Given the description of an element on the screen output the (x, y) to click on. 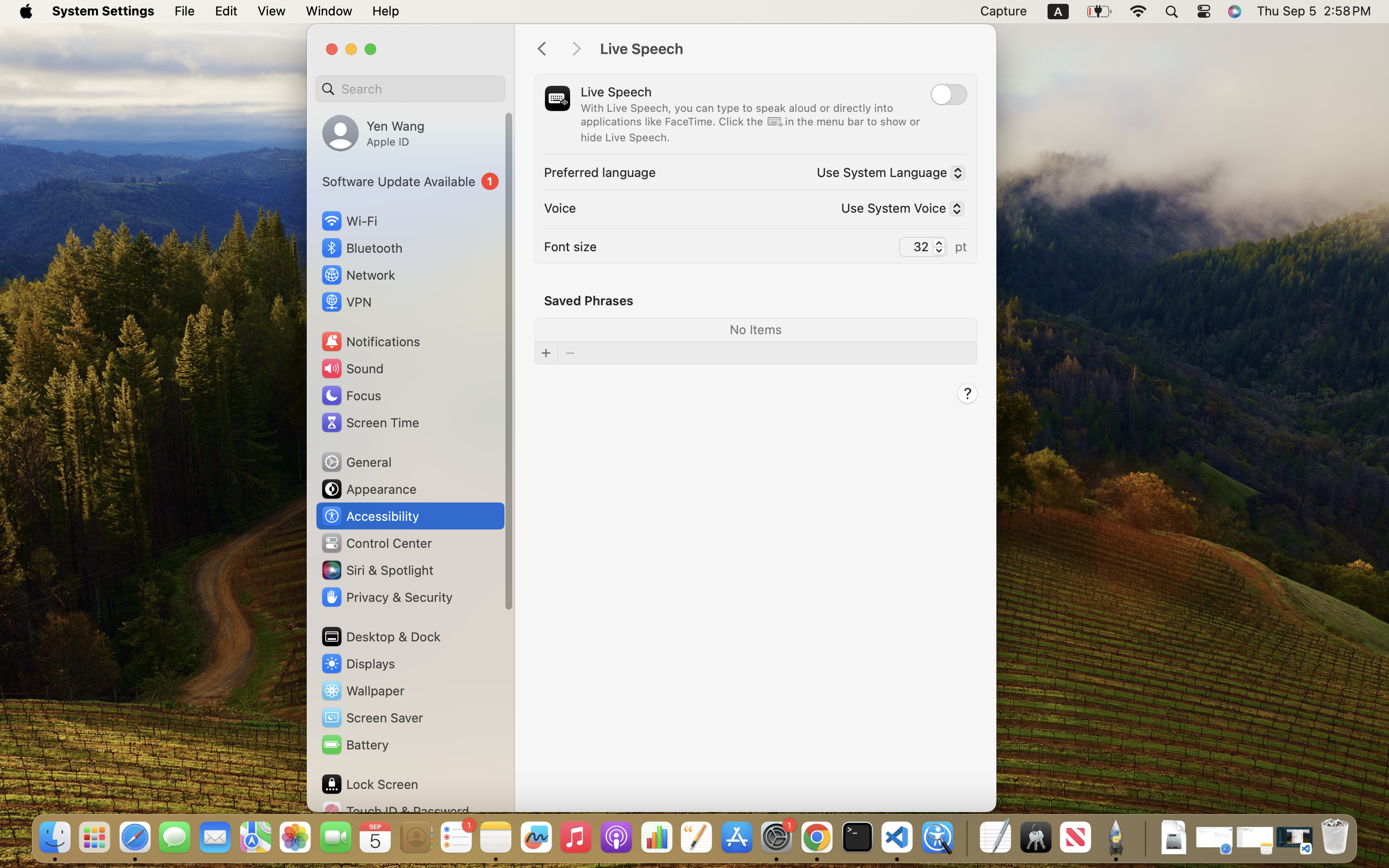
pt Element type: AXStaticText (960, 245)
General Element type: AXStaticText (355, 461)
Network Element type: AXStaticText (357, 274)
Font size Element type: AXStaticText (570, 245)
Displays Element type: AXStaticText (357, 663)
